Given the description of an element on the screen output the (x, y) to click on. 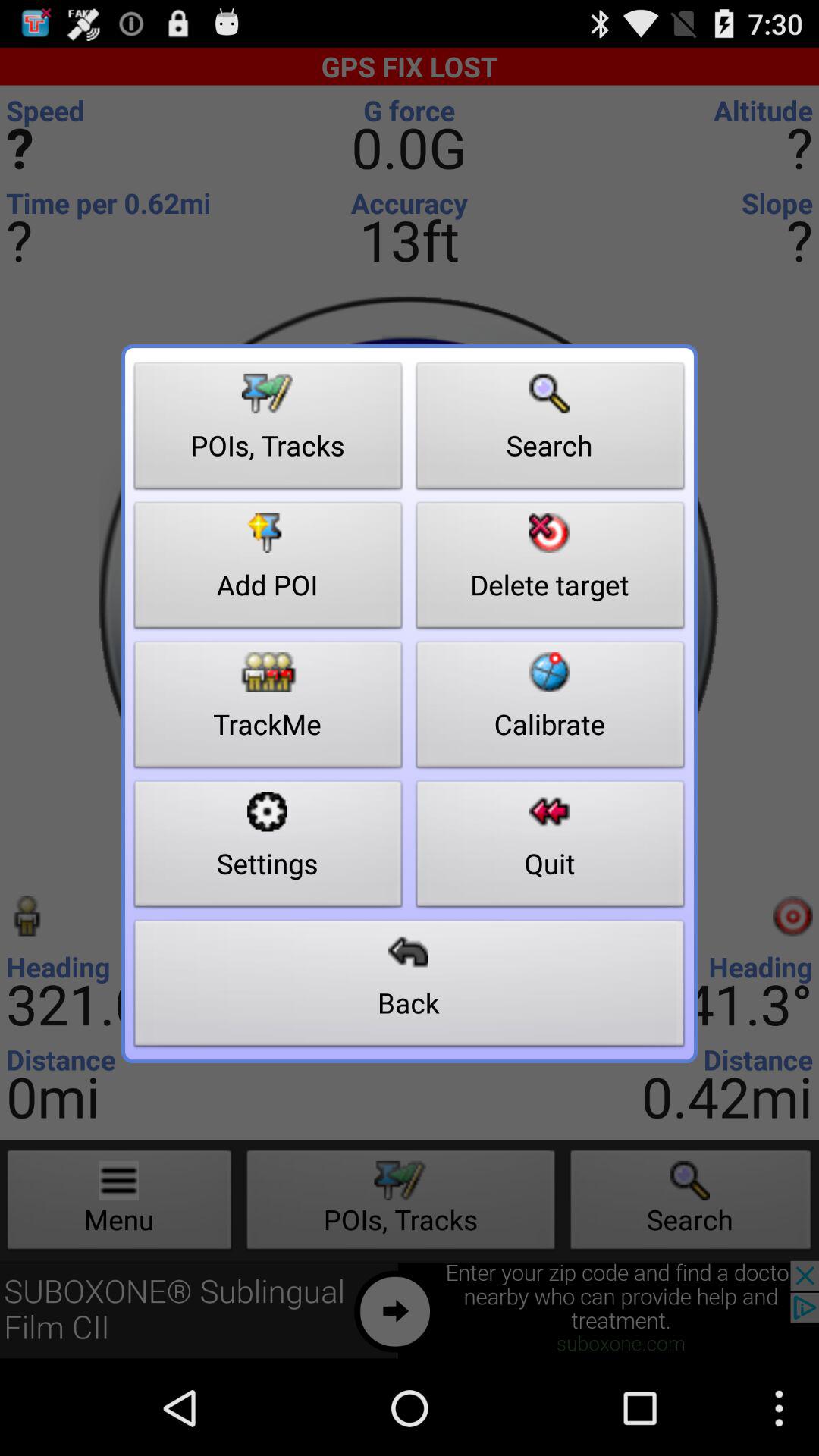
open the pois, tracks item (268, 429)
